Given the description of an element on the screen output the (x, y) to click on. 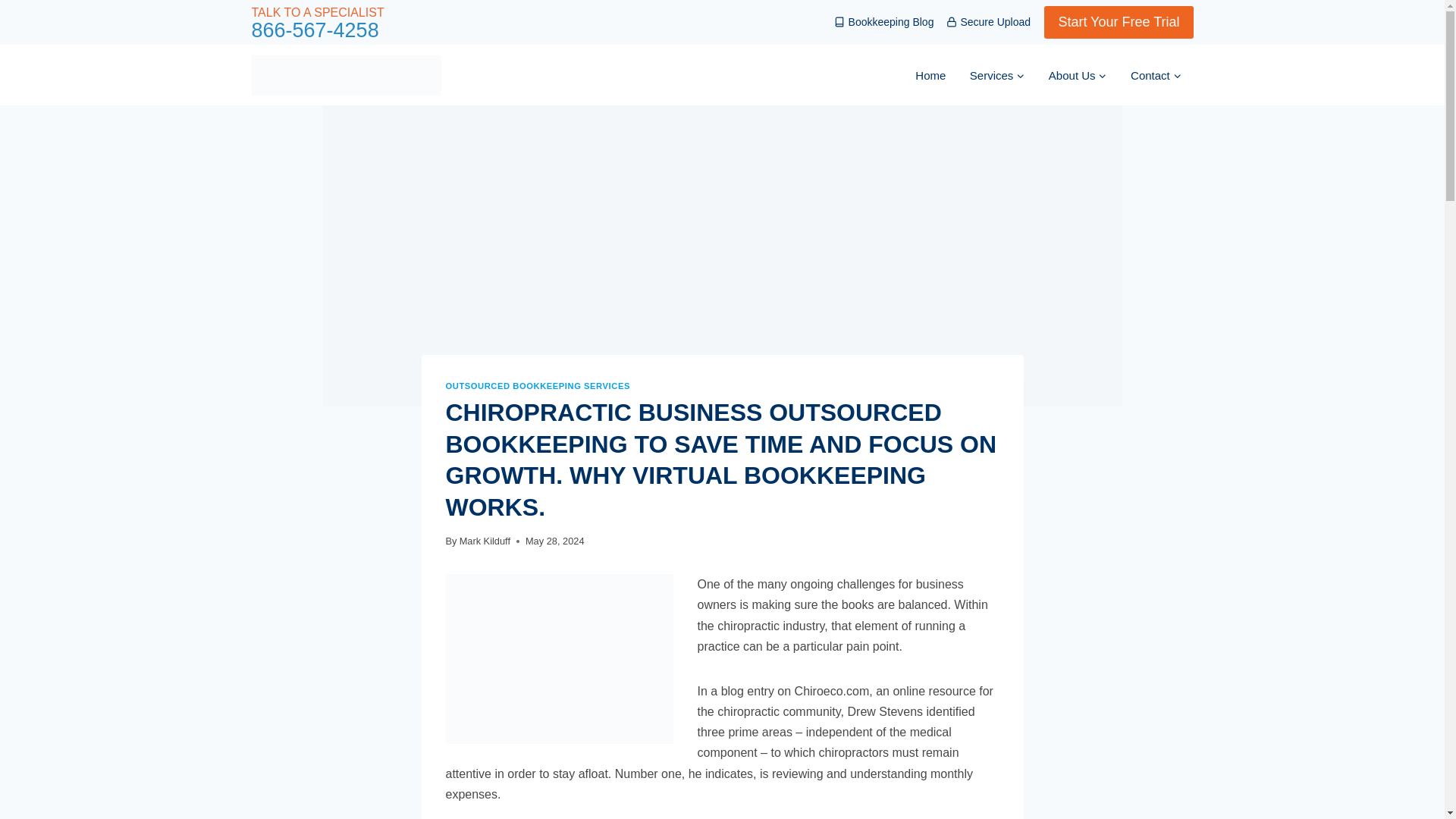
866-567-4258 (314, 32)
Home (931, 75)
Bookkeeping Blog (884, 22)
Start Your Free Trial (1117, 21)
TALK TO A SPECIALIST (317, 11)
Mark Kilduff (485, 541)
Services (997, 75)
Secure Upload (988, 22)
Contact (1155, 75)
OUTSOURCED BOOKKEEPING SERVICES (537, 385)
About Us (1077, 75)
